Given the description of an element on the screen output the (x, y) to click on. 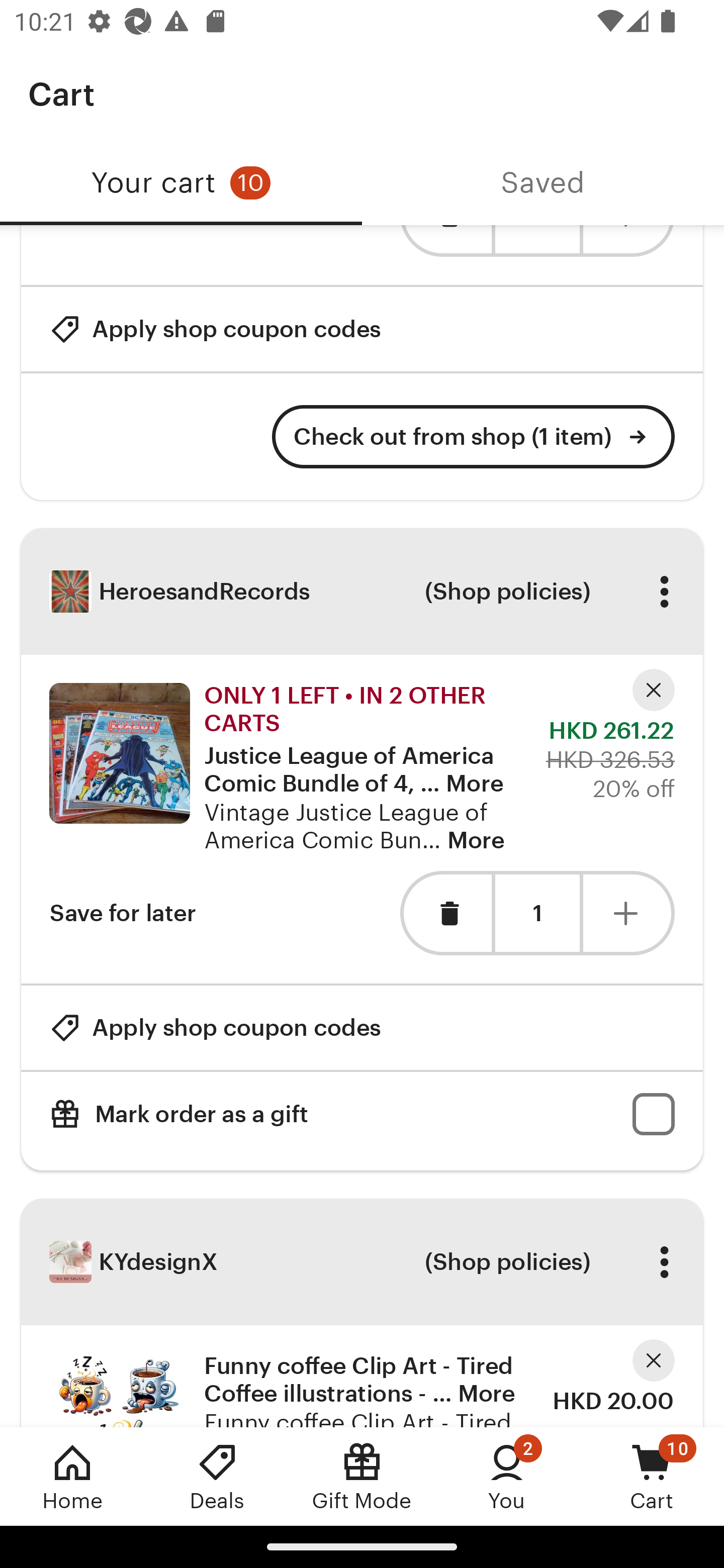
Saved, tab 2 of 2 Saved (543, 183)
Apply shop coupon codes (215, 328)
Check out from shop (1 item) (473, 436)
HeroesandRecords (Shop policies) More options (361, 591)
(Shop policies) (507, 590)
More options (663, 590)
Save for later (122, 912)
Remove item from cart (445, 912)
Add one unit to cart (628, 912)
1 (537, 913)
Apply shop coupon codes (215, 1027)
Mark order as a gift (361, 1114)
KYdesignX (Shop policies) More options (361, 1260)
(Shop policies) (507, 1261)
More options (663, 1261)
Home (72, 1475)
Deals (216, 1475)
Gift Mode (361, 1475)
You, 2 new notifications You (506, 1475)
